Given the description of an element on the screen output the (x, y) to click on. 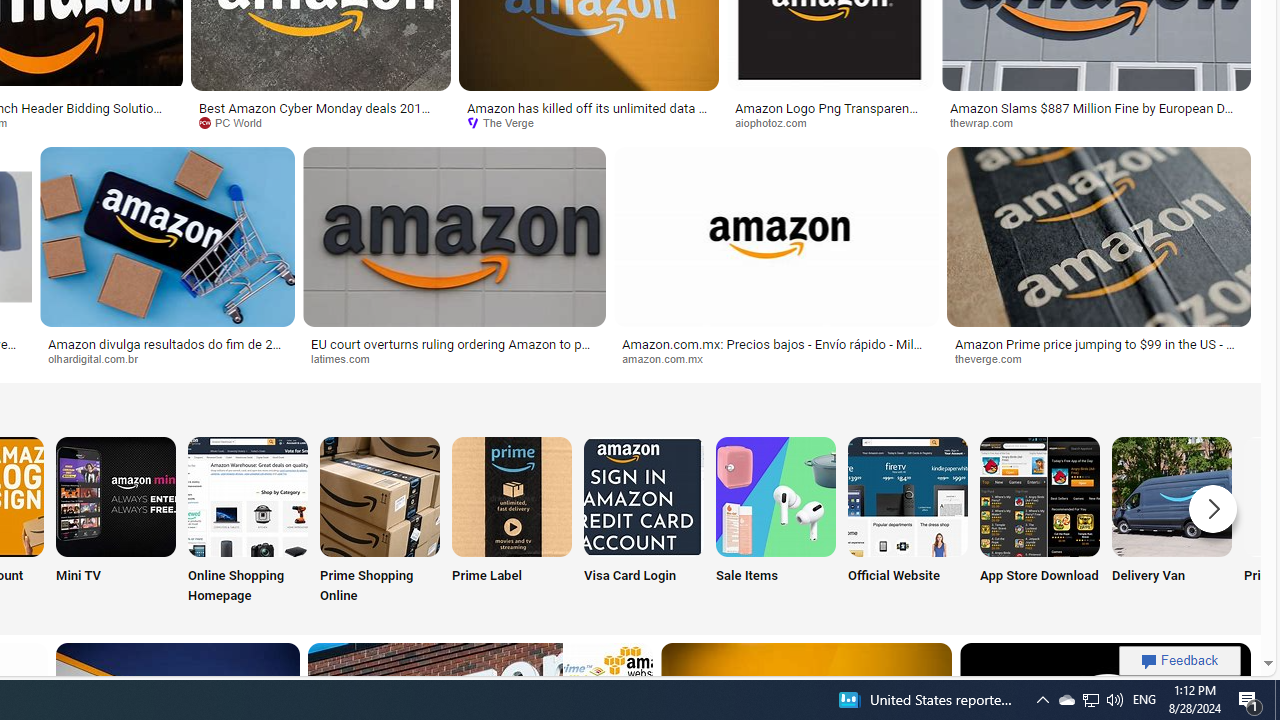
Amazon Delivery Van (1171, 496)
Mini TV (116, 521)
Amazon Prime price jumping to $99 in the US - The Verge (1098, 350)
amazon.com.mx (669, 358)
Visa Card Login (643, 521)
PC World (320, 123)
latimes.com (347, 358)
olhardigital.com.br (167, 359)
Amazon Prime Label Prime Label (511, 521)
The Verge (507, 121)
